Given the description of an element on the screen output the (x, y) to click on. 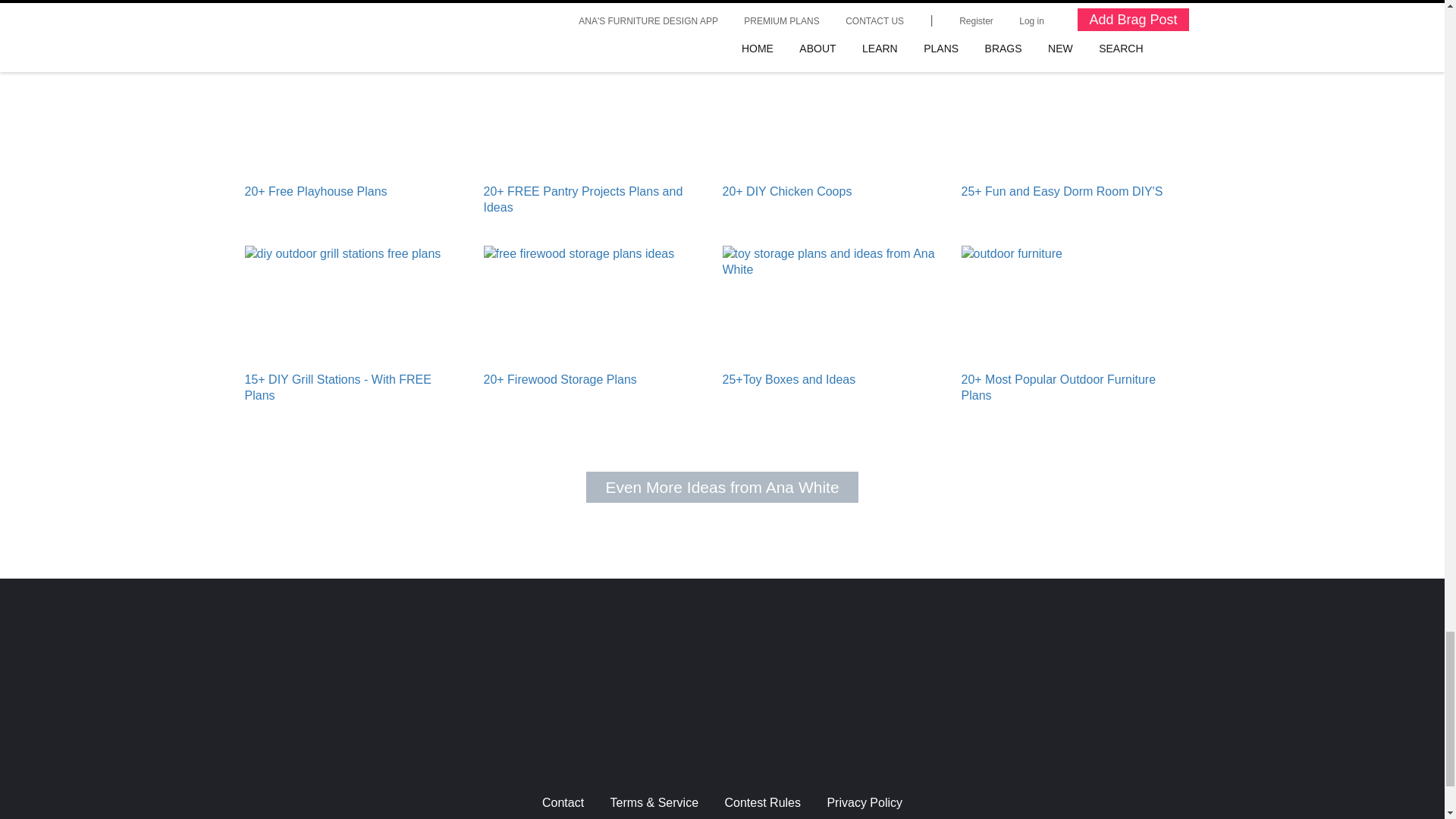
Instagram (648, 734)
Facebook (746, 734)
Pinterest (795, 734)
YouTube (697, 734)
